Given the description of an element on the screen output the (x, y) to click on. 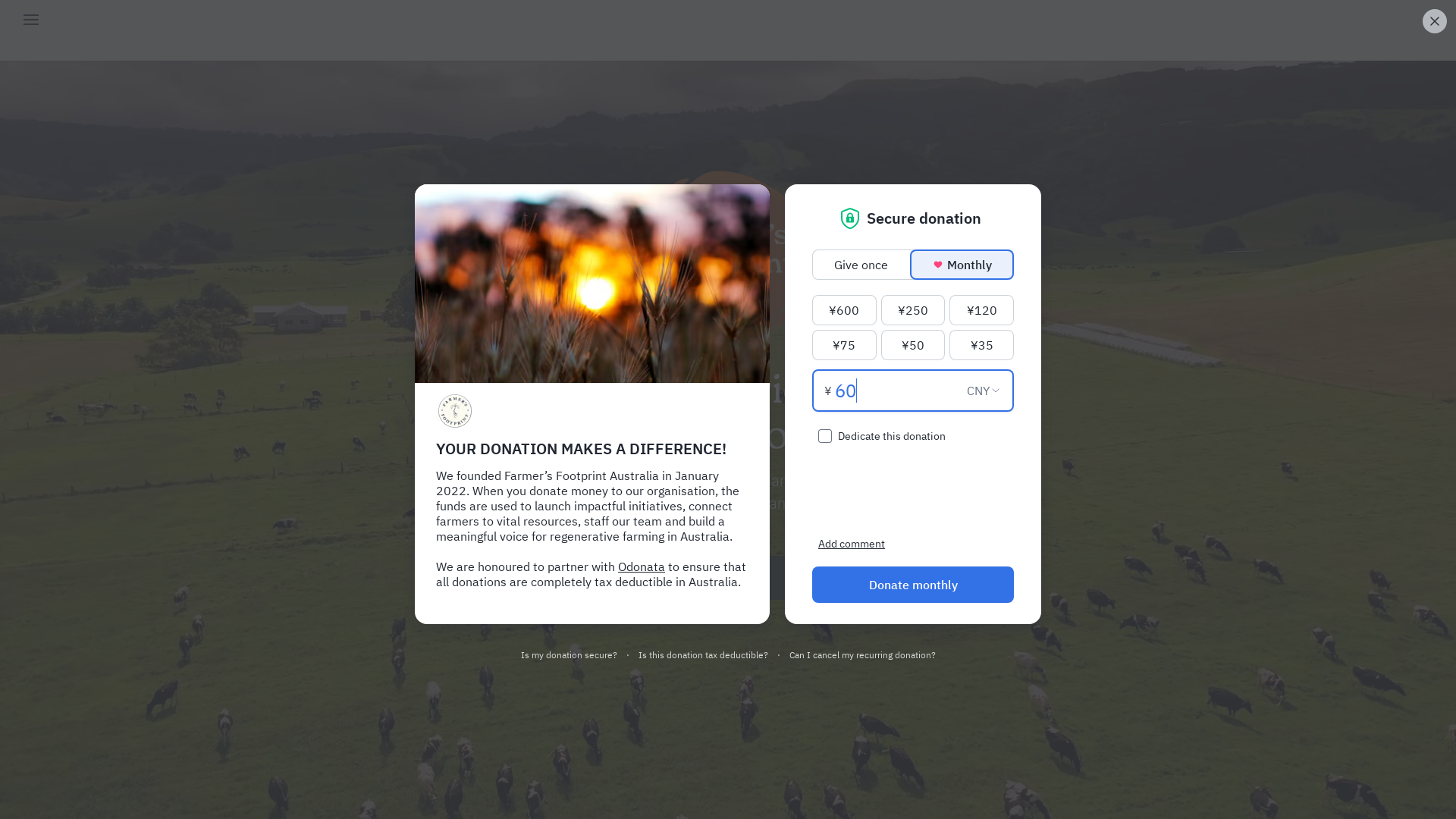
Learn More Element type: text (639, 577)
FarmersFootprintAU_Logo_Main Element type: hover (728, 253)
Donate Element type: text (820, 577)
